Given the description of an element on the screen output the (x, y) to click on. 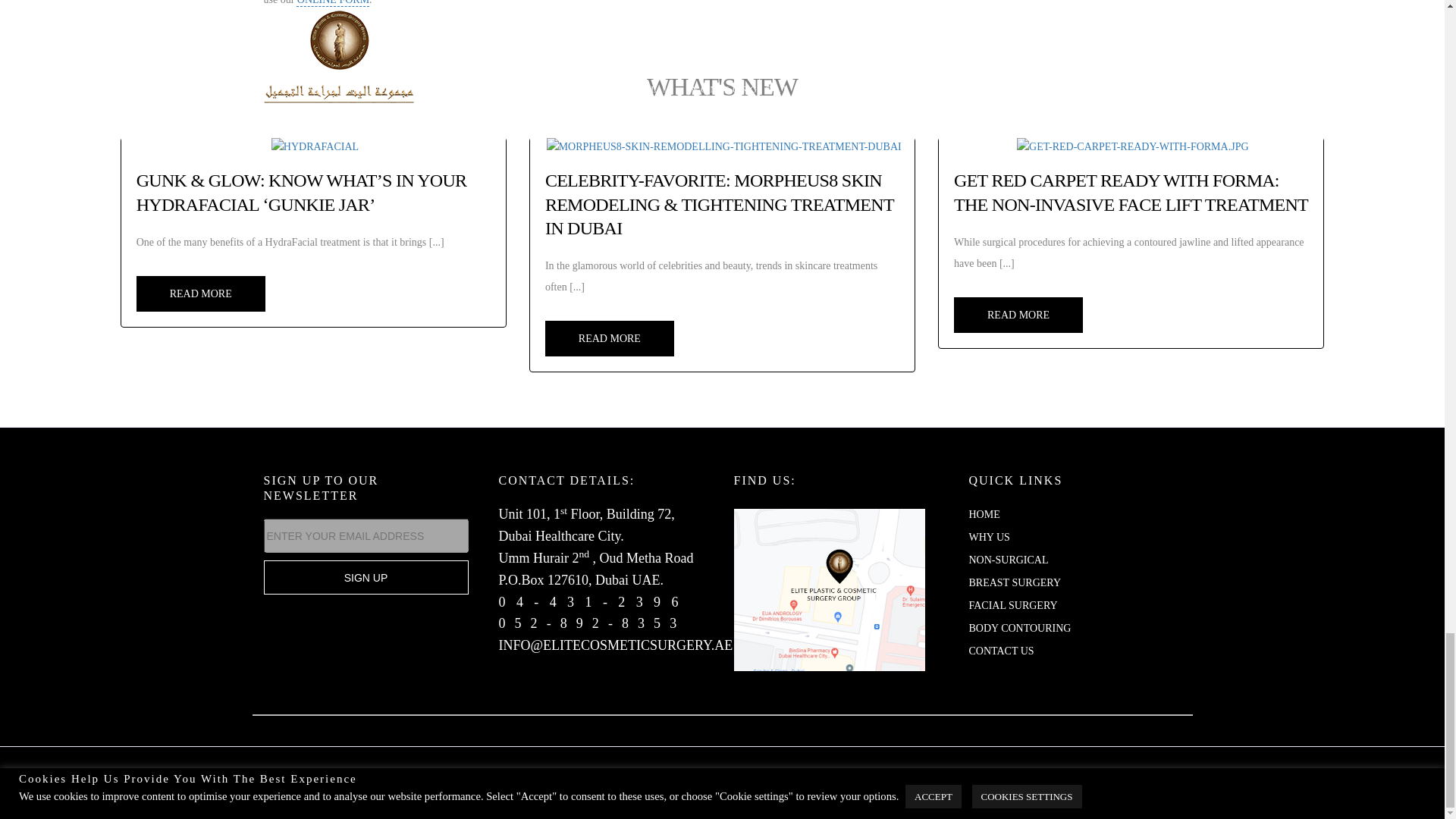
SIGN UP (365, 577)
